Given the description of an element on the screen output the (x, y) to click on. 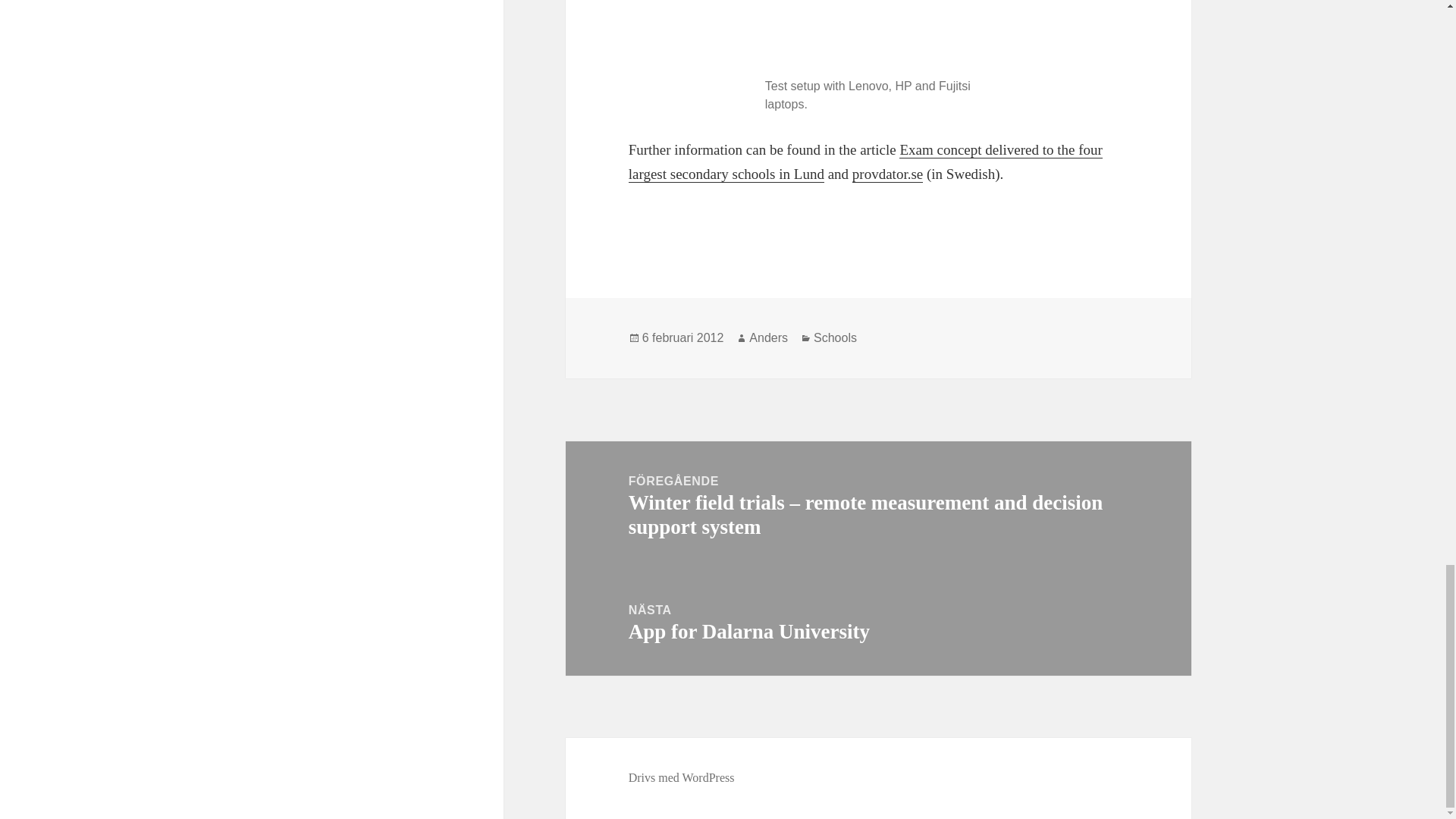
Schools (835, 337)
provdator.se (887, 174)
Drivs med WordPress (681, 777)
Anders (768, 337)
6 februari 2012 (682, 337)
